Given the description of an element on the screen output the (x, y) to click on. 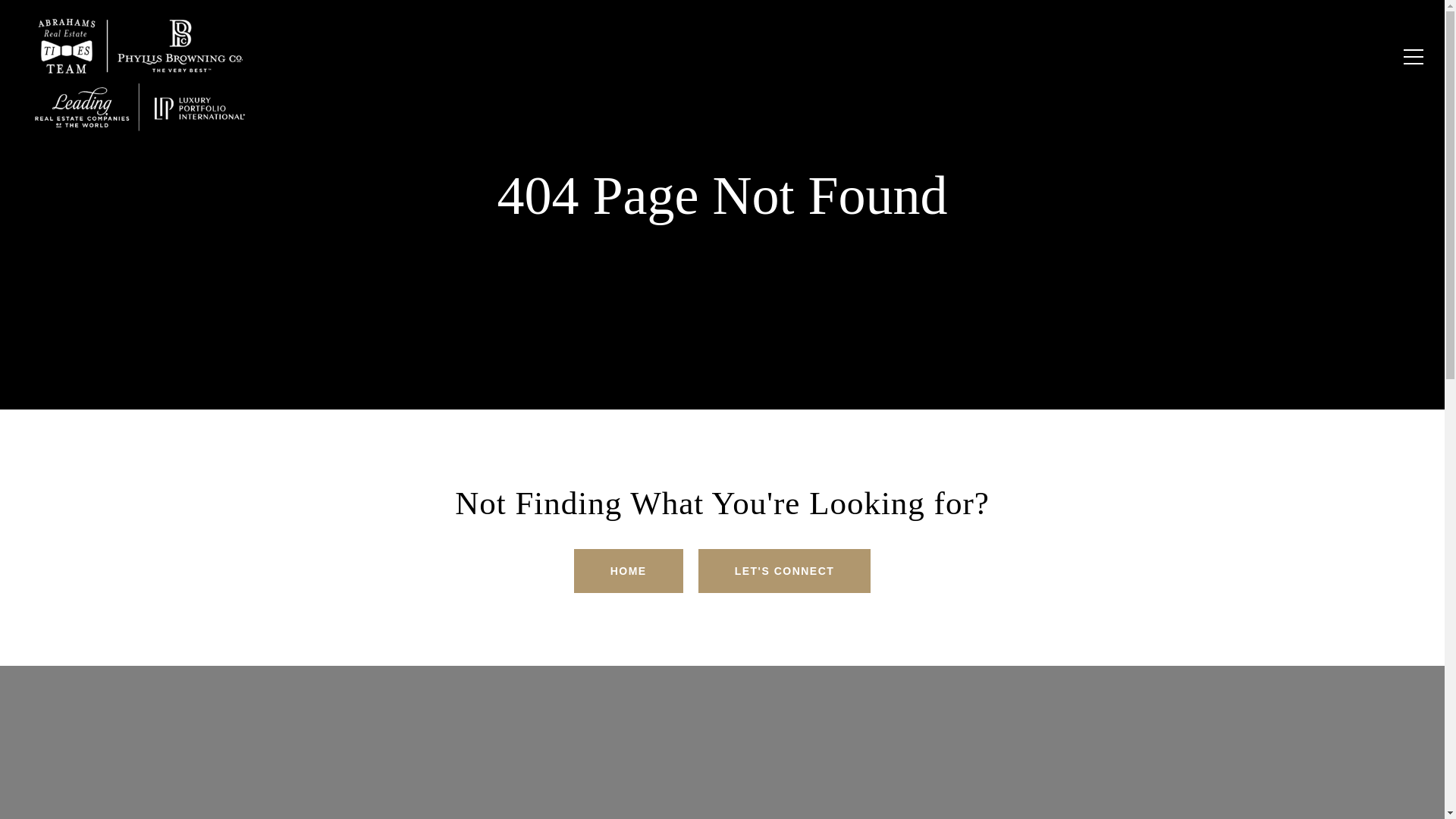
HOME (627, 570)
LET'S CONNECT (784, 570)
